Given the description of an element on the screen output the (x, y) to click on. 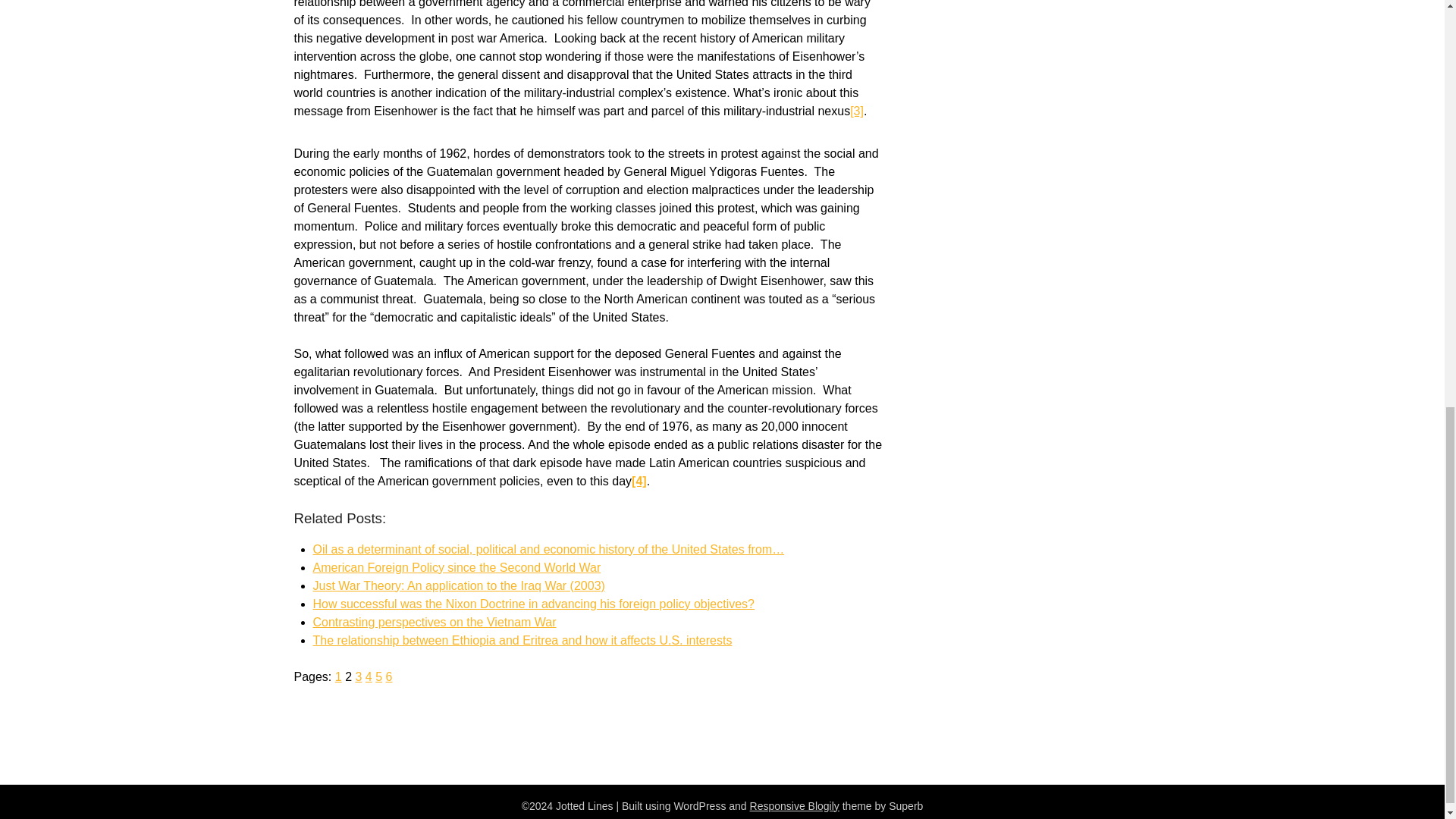
American Foreign Policy since the Second World War (456, 567)
Responsive Blogily (794, 806)
Contrasting perspectives on the Vietnam War (434, 621)
